Given the description of an element on the screen output the (x, y) to click on. 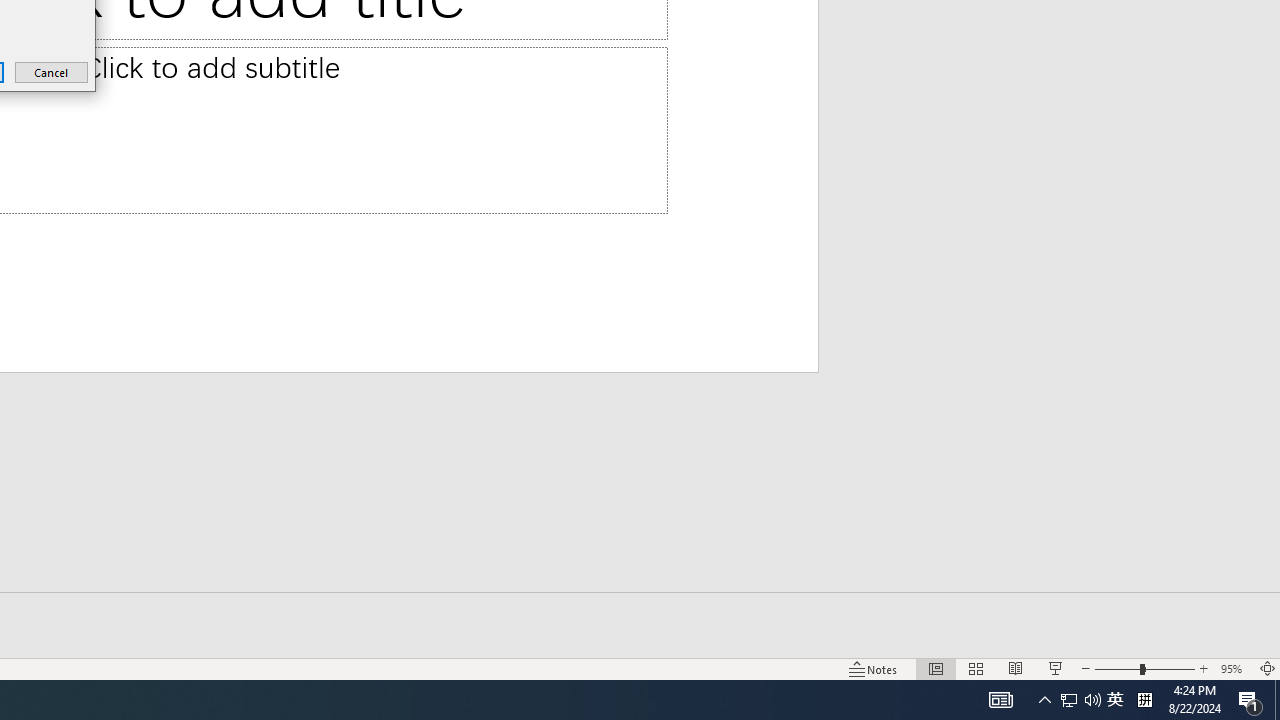
Zoom 95% (1234, 668)
